Given the description of an element on the screen output the (x, y) to click on. 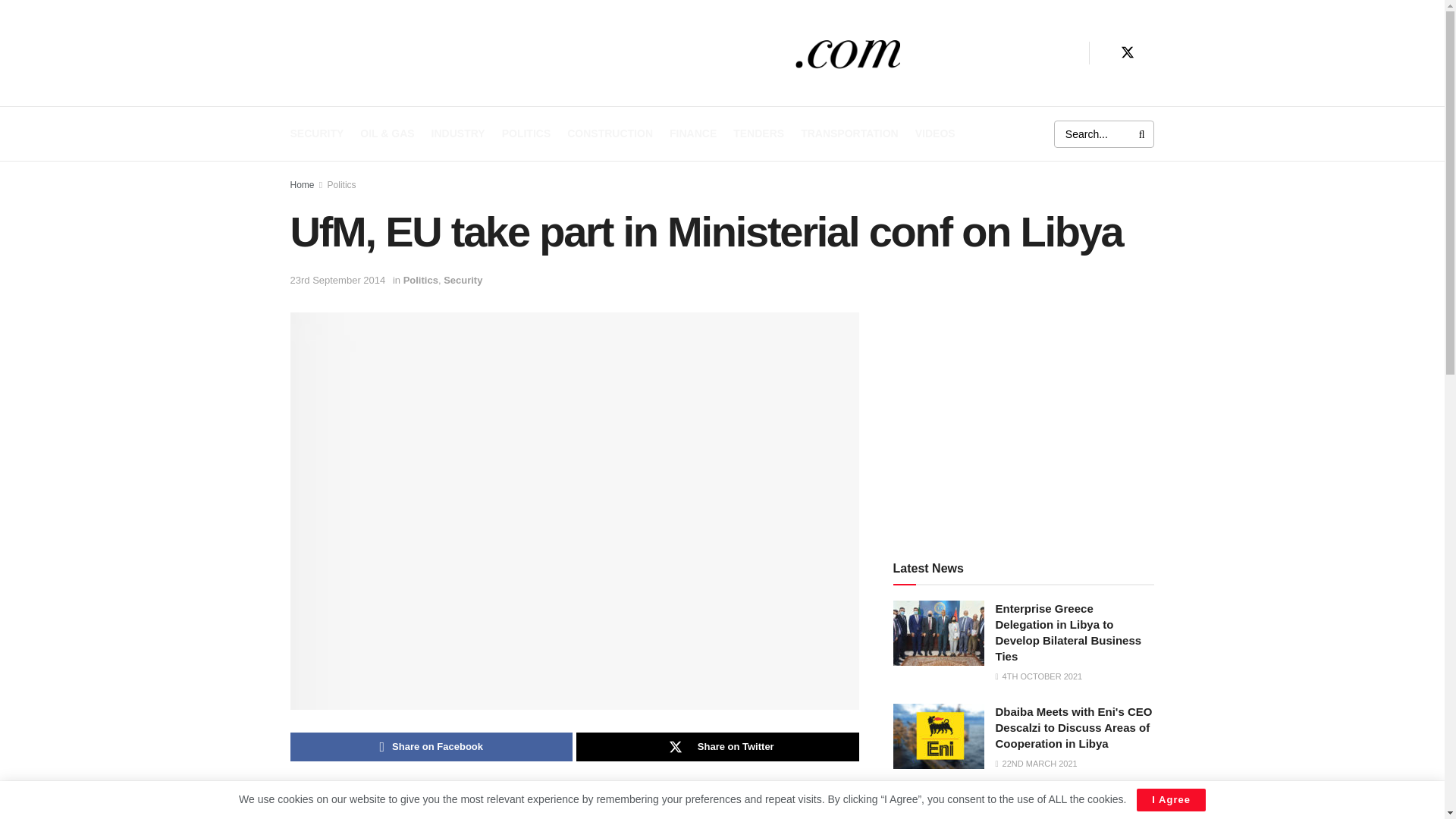
Advertisement (1023, 418)
Politics (341, 184)
23rd September 2014 (337, 279)
Home (301, 184)
Share on Twitter (717, 746)
Share on Facebook (430, 746)
TENDERS (758, 133)
Security (462, 279)
INDUSTRY (457, 133)
CONSTRUCTION (609, 133)
